Given the description of an element on the screen output the (x, y) to click on. 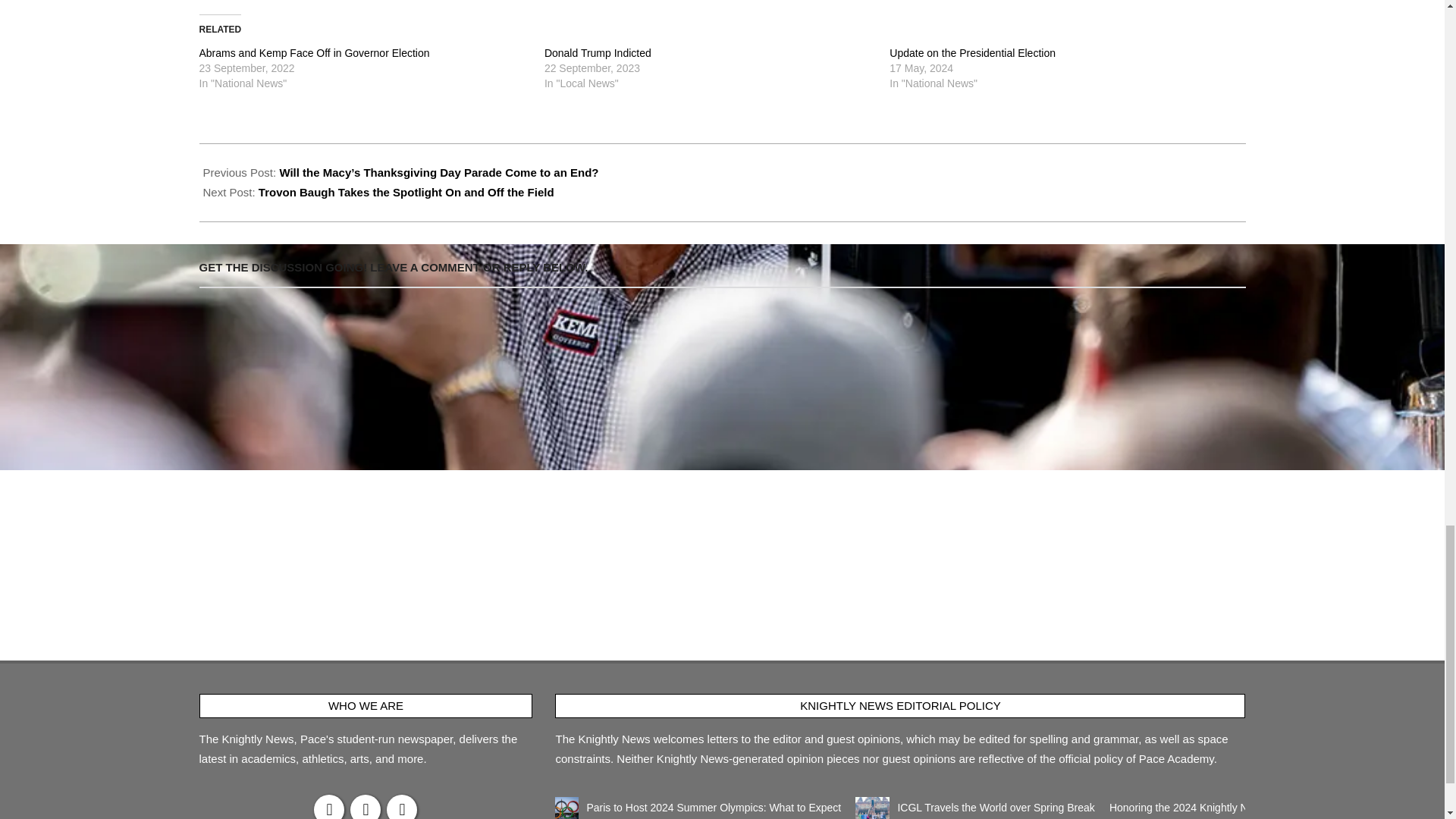
Abrams and Kemp Face Off in Governor Election (313, 52)
Update on the Presidential Election (972, 52)
Donald Trump Indicted (597, 52)
